Given the description of an element on the screen output the (x, y) to click on. 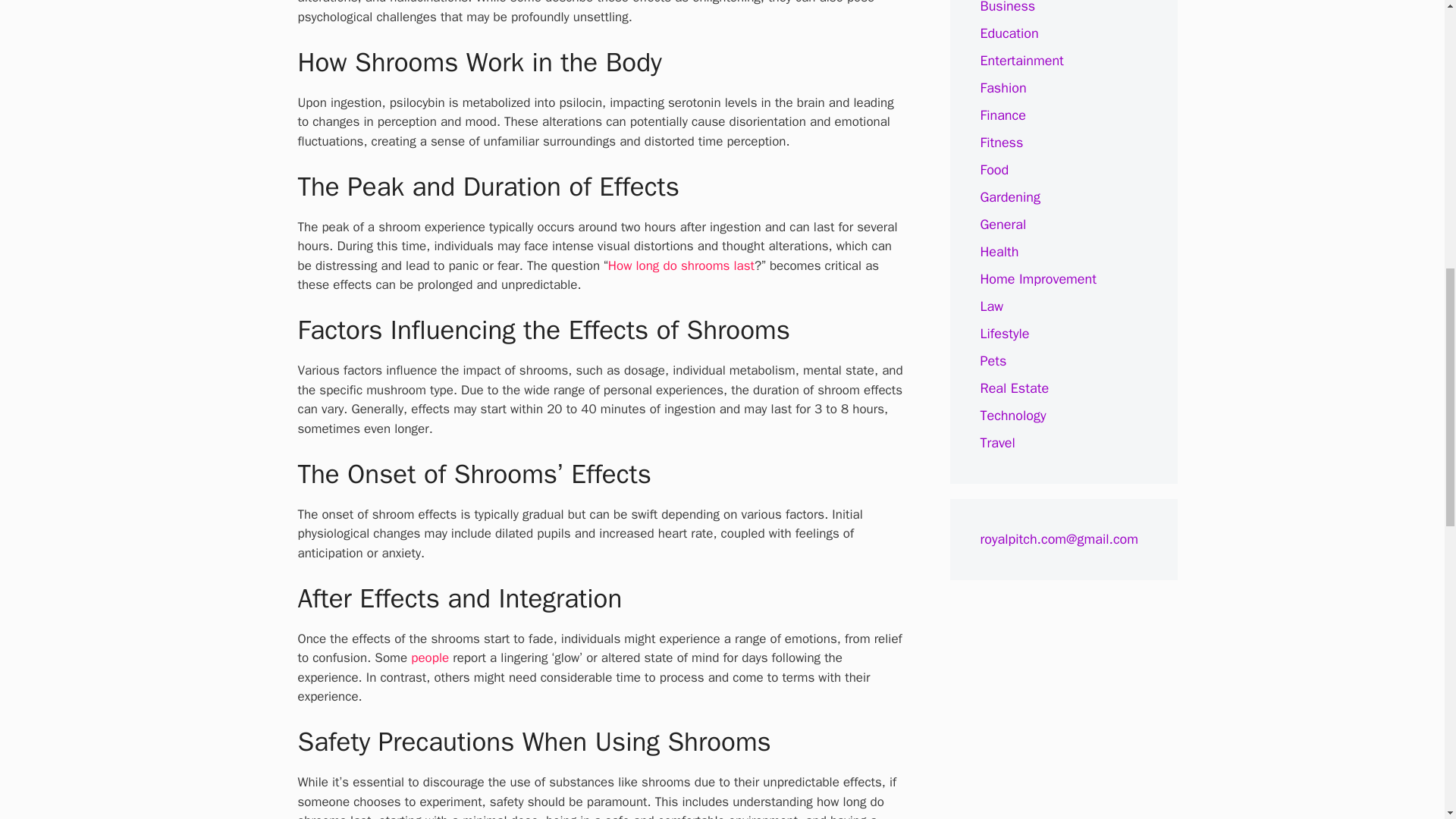
Business (1007, 7)
Entertainment (1020, 60)
How long do shrooms last (681, 265)
people (429, 657)
Scroll back to top (1406, 720)
Education (1008, 33)
